Given the description of an element on the screen output the (x, y) to click on. 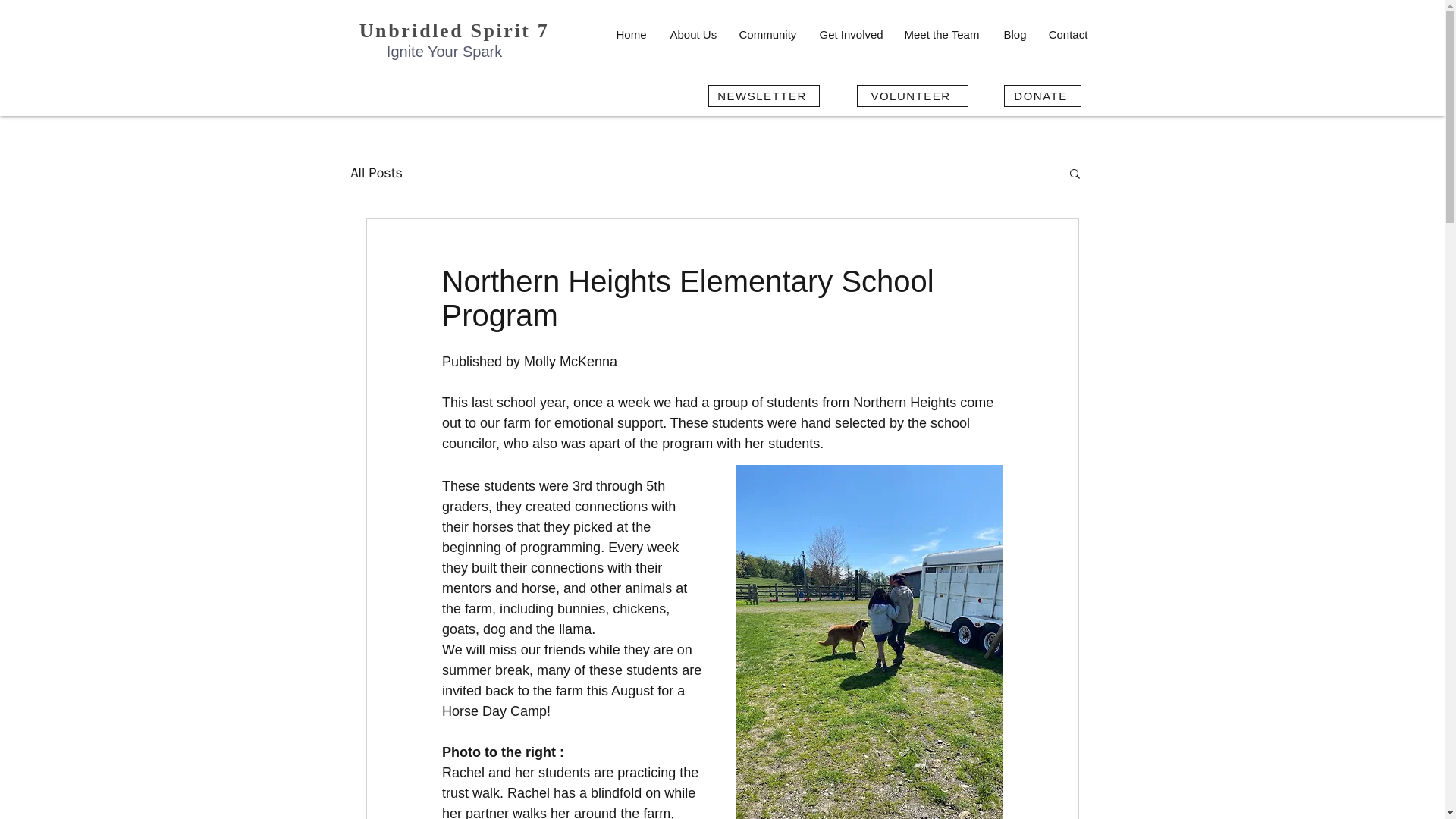
Contact (1067, 34)
About Us (692, 34)
NEWSLETTER (763, 96)
Community (768, 34)
Get Involved (849, 34)
Blog (1013, 34)
Unbridled Spirit 7 (454, 30)
VOLUNTEER (912, 96)
Home (631, 34)
All Posts (375, 172)
